Given the description of an element on the screen output the (x, y) to click on. 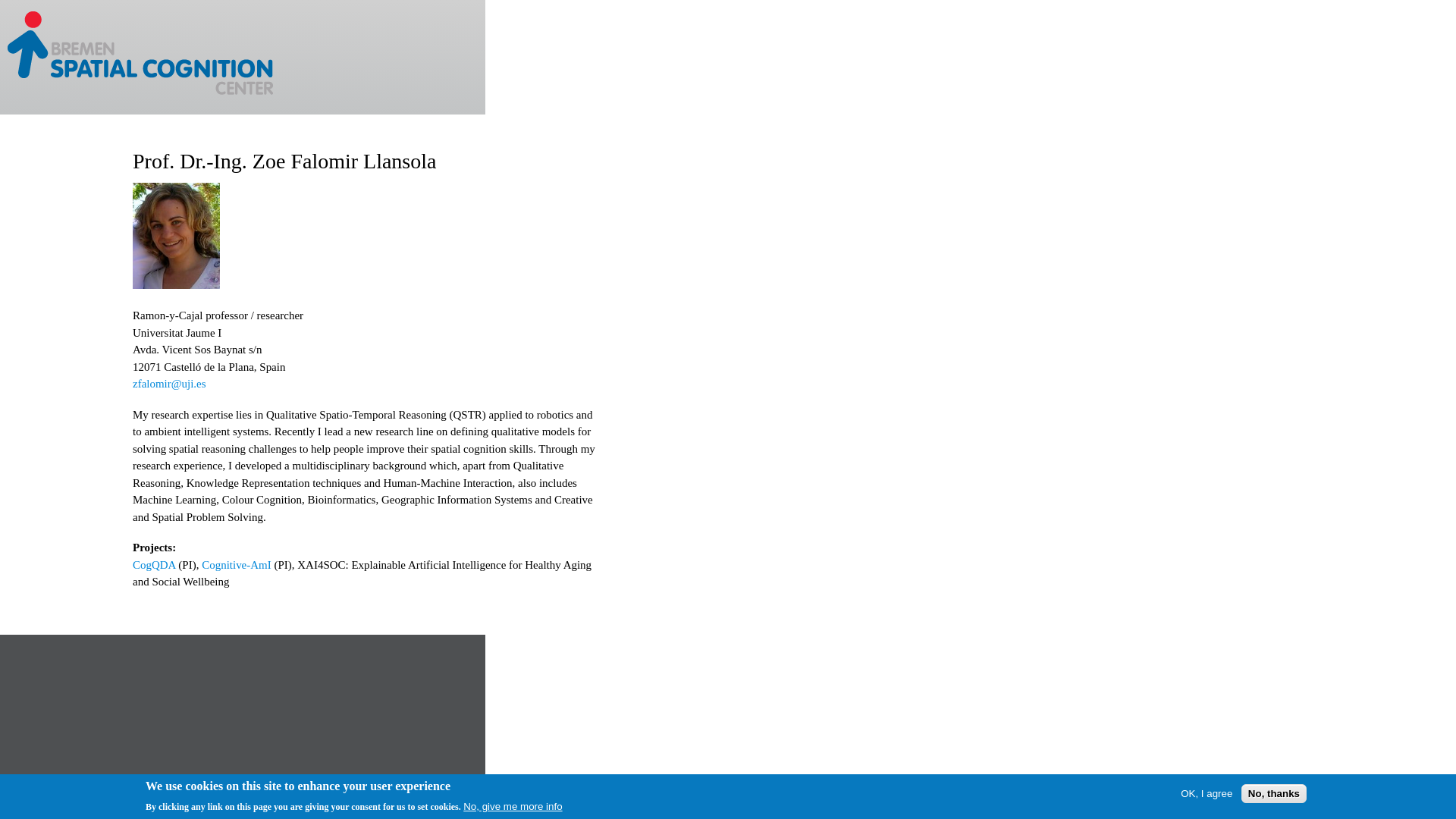
CogQDA (154, 564)
Home (141, 57)
Cognitive-AmI (236, 564)
No, give me more info (512, 806)
